Given the description of an element on the screen output the (x, y) to click on. 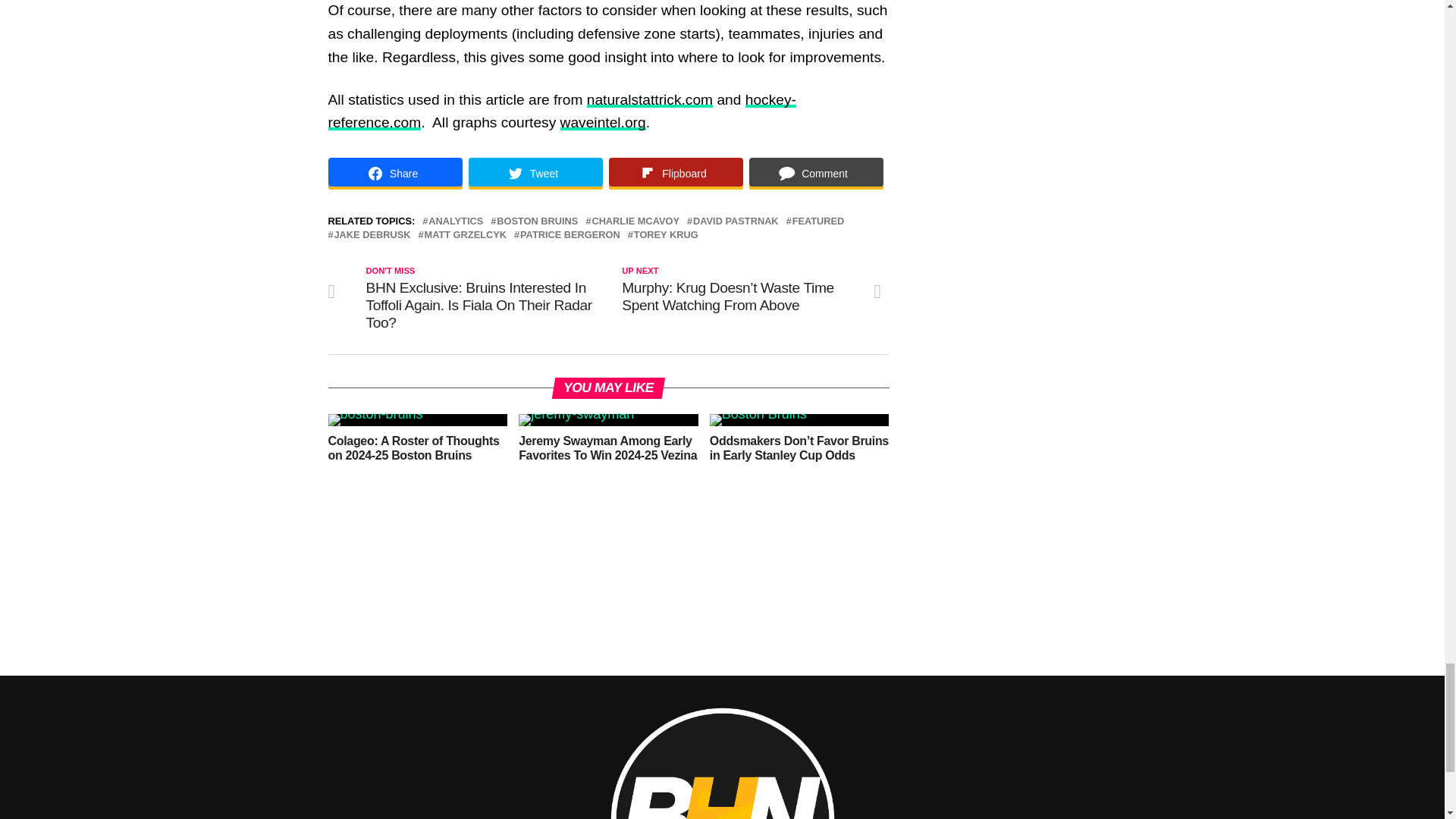
Share on Tweet (535, 173)
Share on Comment (816, 173)
Share on Flipboard (675, 173)
Share on Share (394, 173)
